Given the description of an element on the screen output the (x, y) to click on. 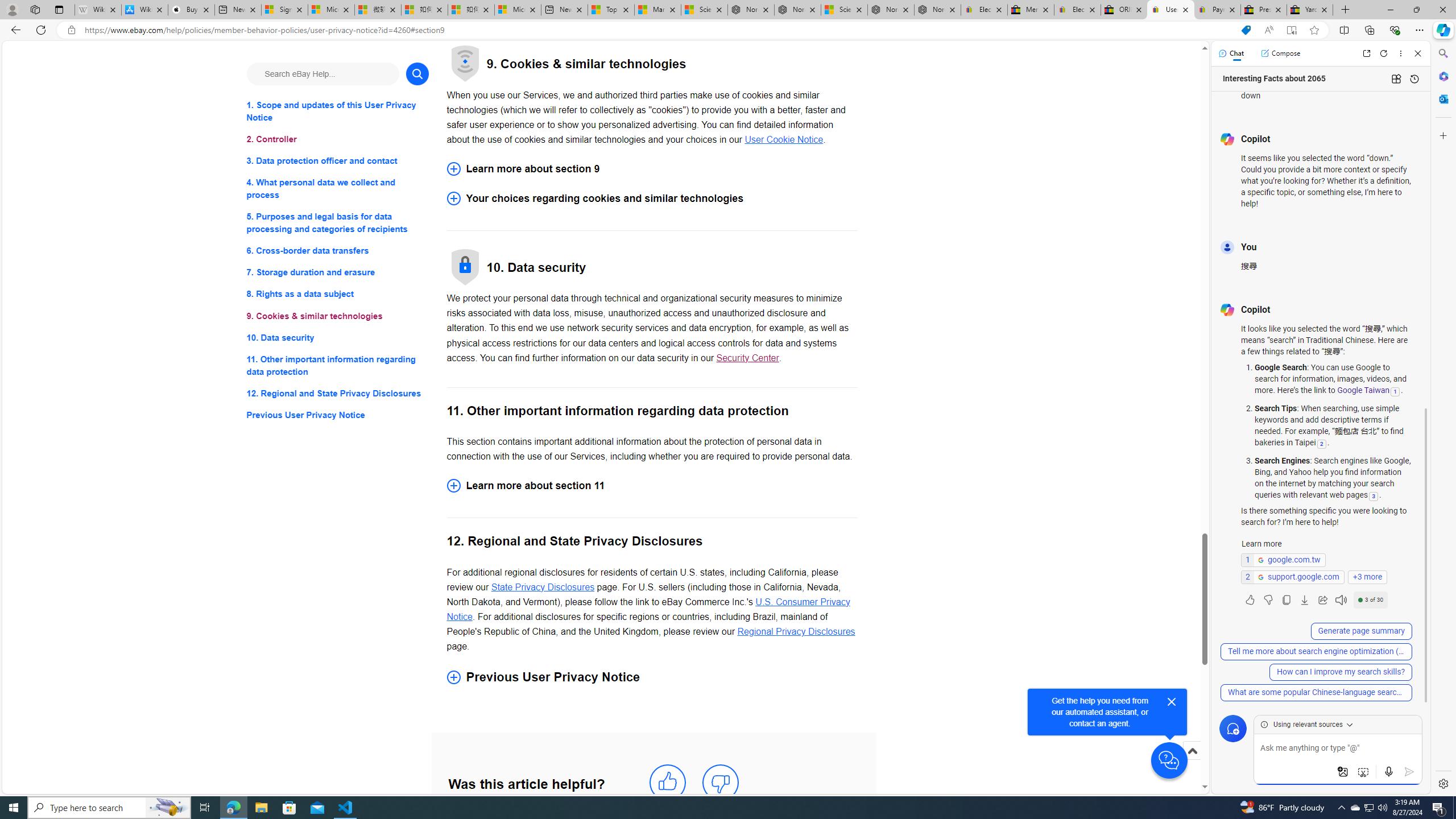
7. Storage duration and erasure (337, 272)
4. What personal data we collect and process (337, 189)
User Cookie Notice (784, 139)
Previous User Privacy Notice (651, 677)
